Given the description of an element on the screen output the (x, y) to click on. 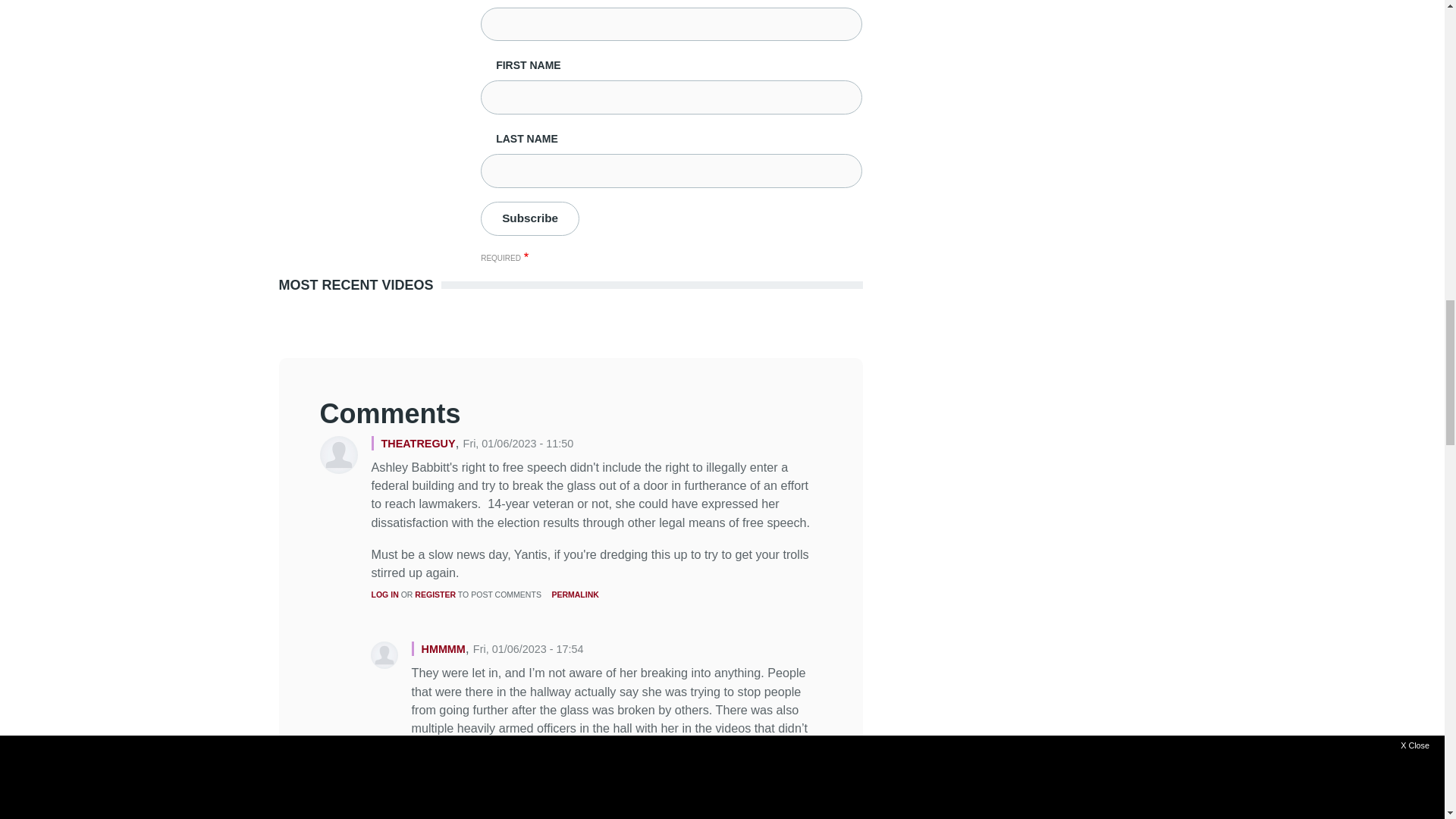
Subscribe (529, 218)
View user profile. (417, 443)
